Given the description of an element on the screen output the (x, y) to click on. 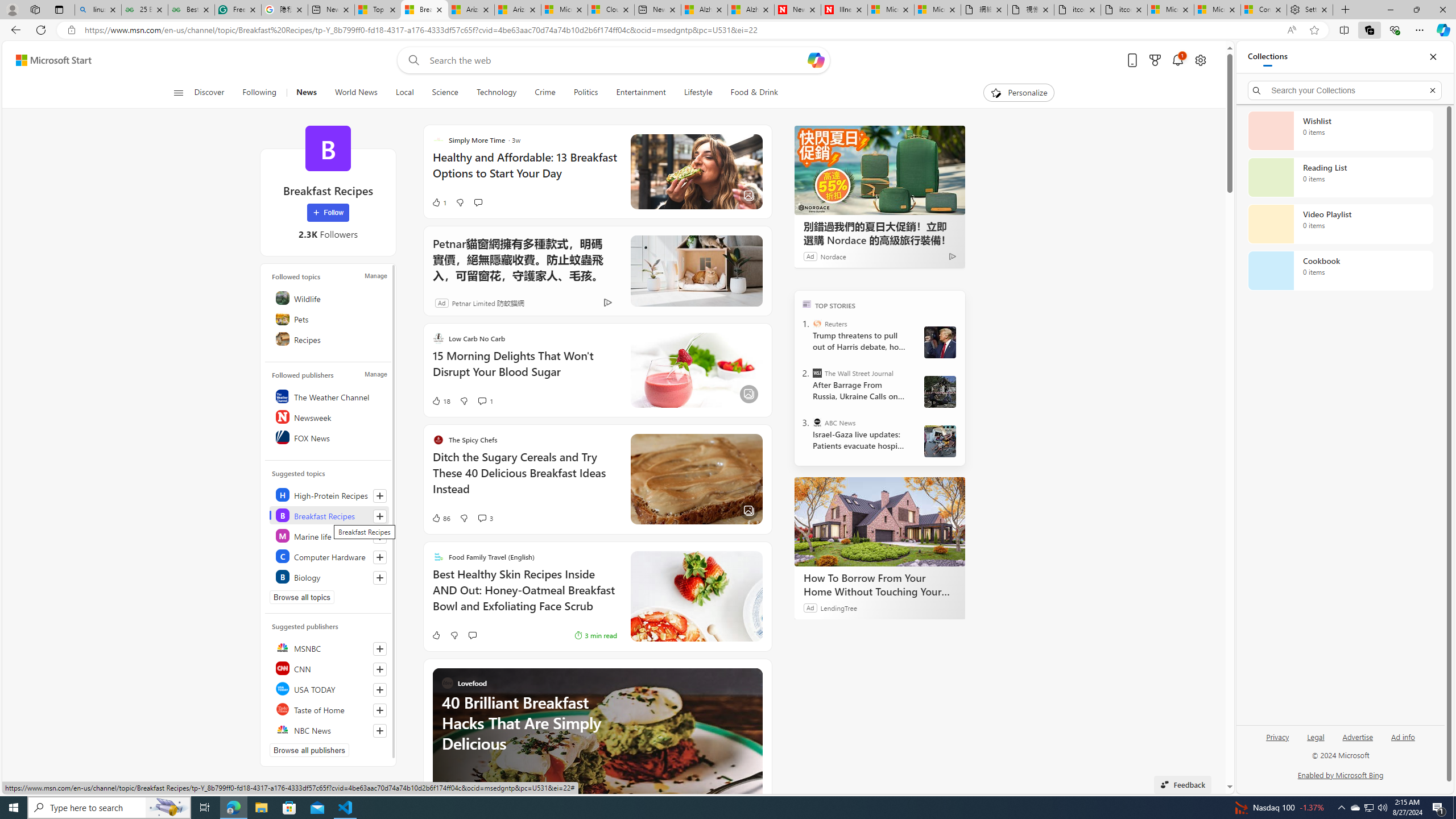
Taste of Home (328, 709)
CNN (328, 668)
Illness news & latest pictures from Newsweek.com (844, 9)
Newsweek - News, Analysis, Politics, Business, Technology (797, 9)
View comments 3 Comment (485, 517)
Breakfast Recipes - MSN (424, 9)
Wishlist collection, 0 items (1339, 130)
